Given the description of an element on the screen output the (x, y) to click on. 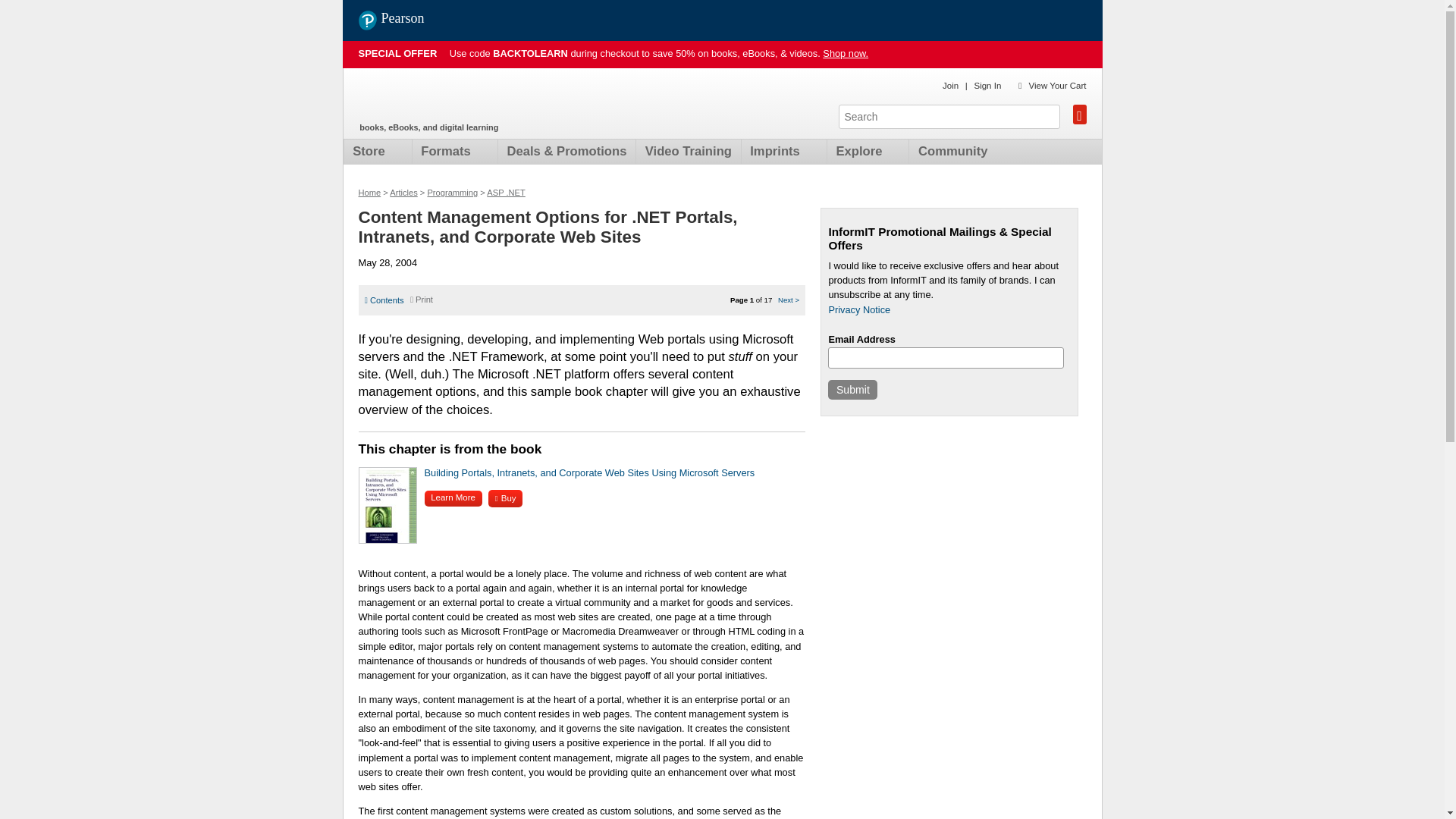
ASP .NET (505, 192)
Learn More (453, 498)
Privacy Notice (858, 309)
Shop now. (844, 52)
Articles (403, 192)
Programming (451, 192)
Submit (852, 389)
Home (369, 192)
Home (446, 98)
